Given the description of an element on the screen output the (x, y) to click on. 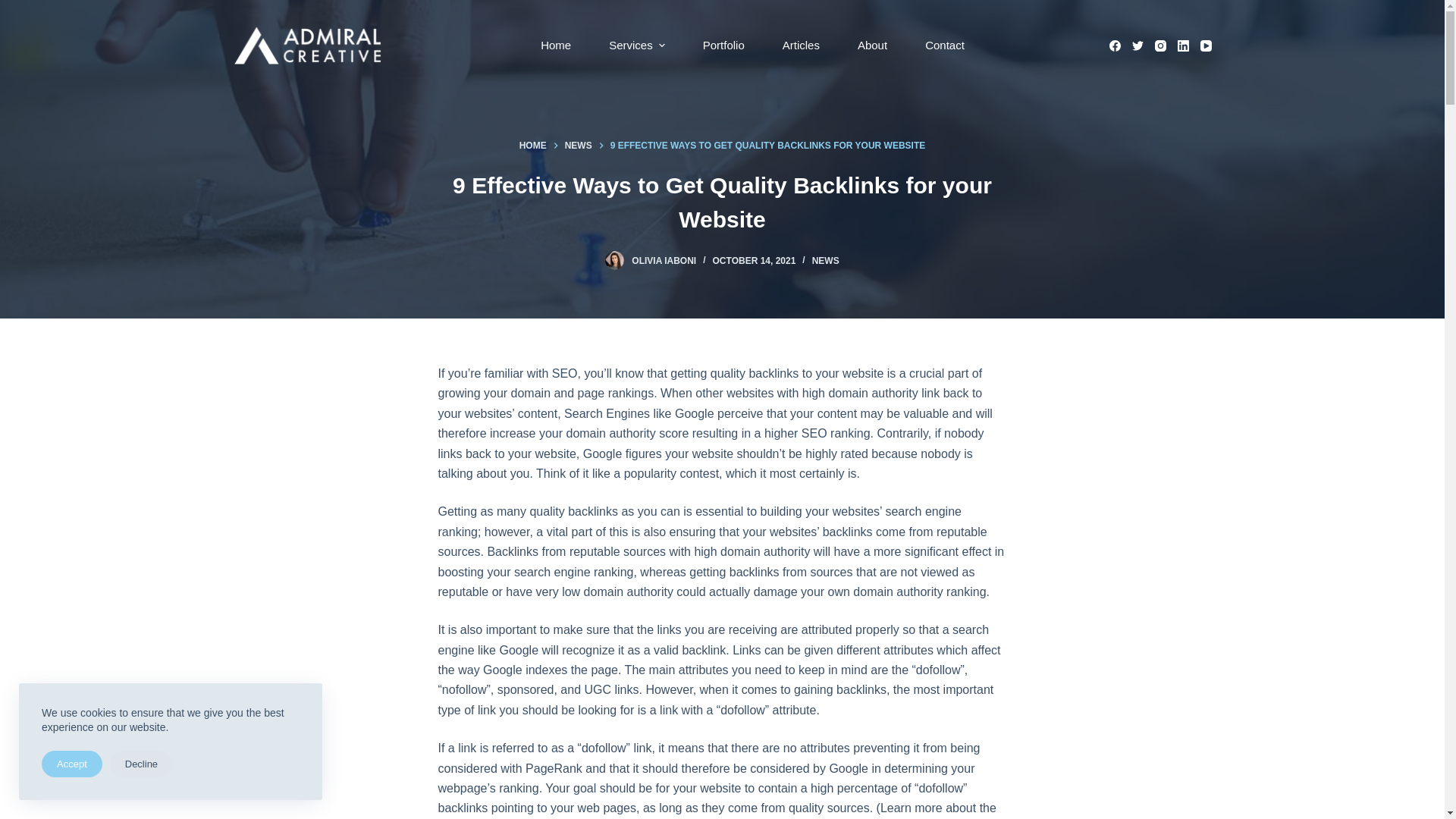
OLIVIA IABONI Element type: text (663, 260)
NEWS Element type: text (578, 145)
Portfolio Element type: text (723, 45)
About Element type: text (872, 45)
Contact Element type: text (944, 45)
Home Element type: text (555, 45)
HOME Element type: text (532, 145)
Accept Element type: text (71, 763)
Articles Element type: text (800, 45)
Decline Element type: text (140, 763)
Skip to content Element type: text (15, 7)
NEWS Element type: text (825, 260)
Services Element type: text (636, 45)
